Given the description of an element on the screen output the (x, y) to click on. 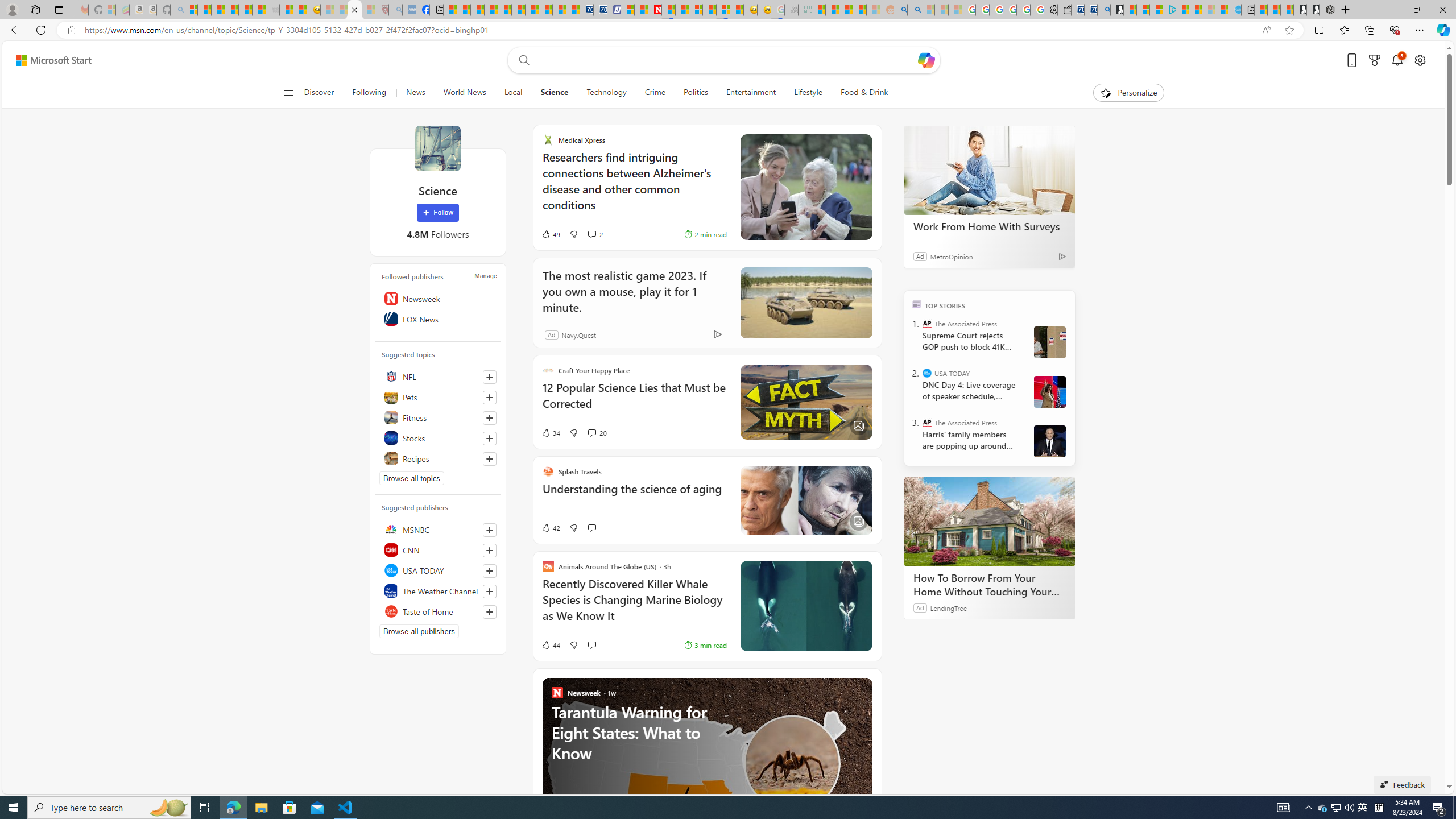
Student Loan Update: Forgiveness Program Ends This Month (858, 9)
